Given the description of an element on the screen output the (x, y) to click on. 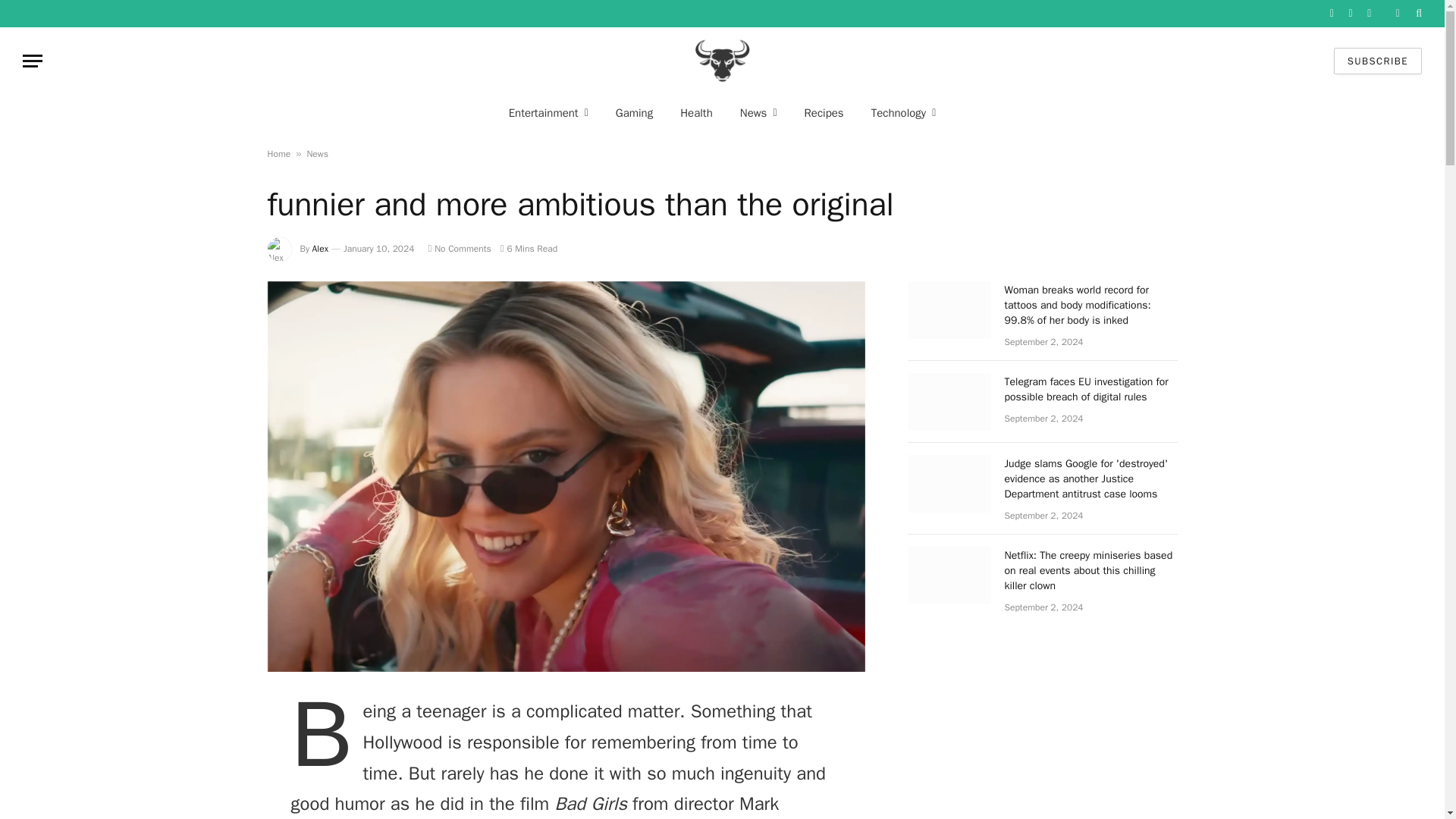
Posts by Alex (321, 248)
Switch to Dark Design - easier on eyes. (1397, 13)
